Given the description of an element on the screen output the (x, y) to click on. 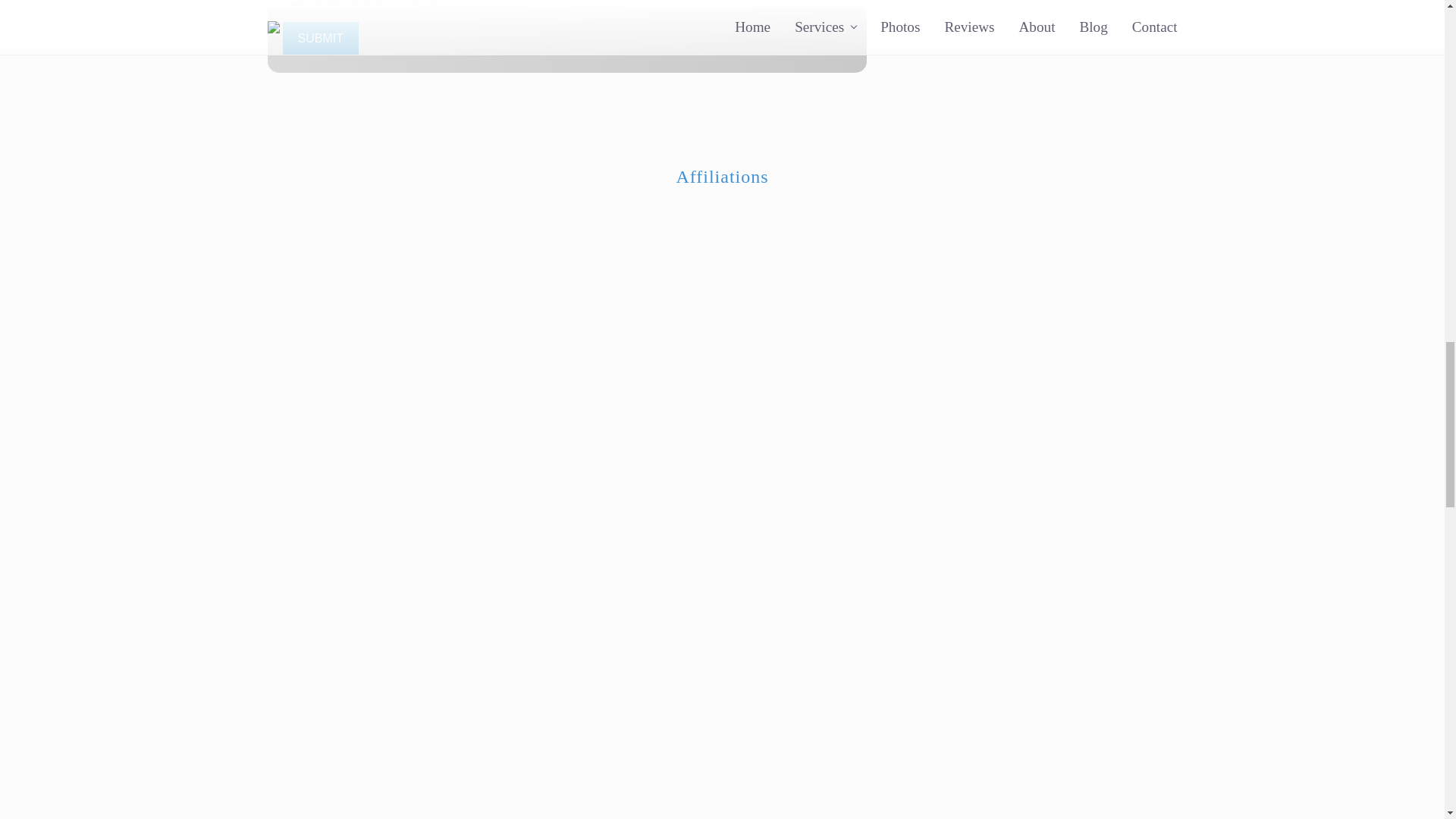
Submit (320, 38)
